Given the description of an element on the screen output the (x, y) to click on. 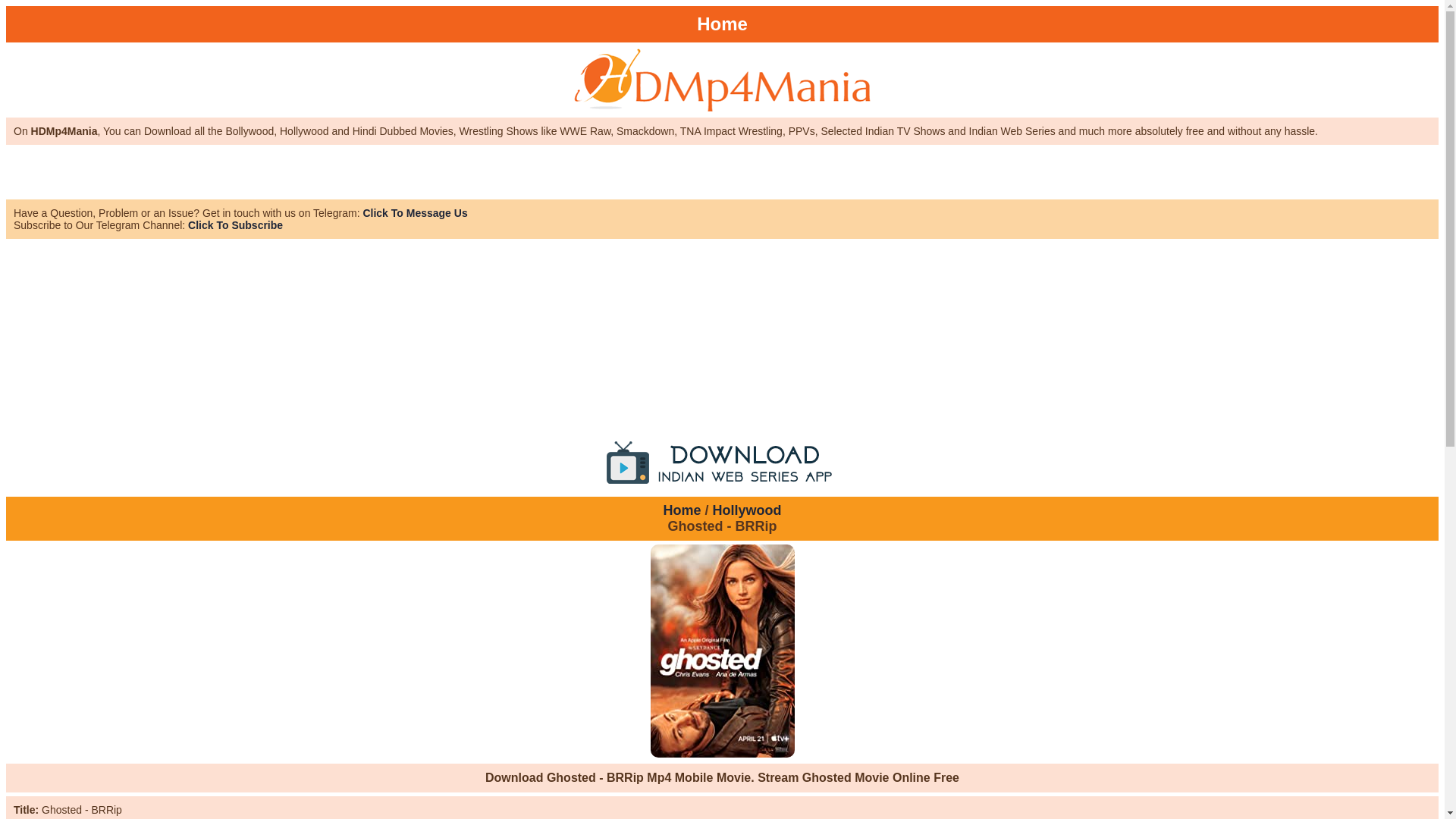
Home (722, 23)
Click To Subscribe (234, 224)
Hollywood (747, 509)
Home (681, 509)
Click To Message Us (414, 213)
